Given the description of an element on the screen output the (x, y) to click on. 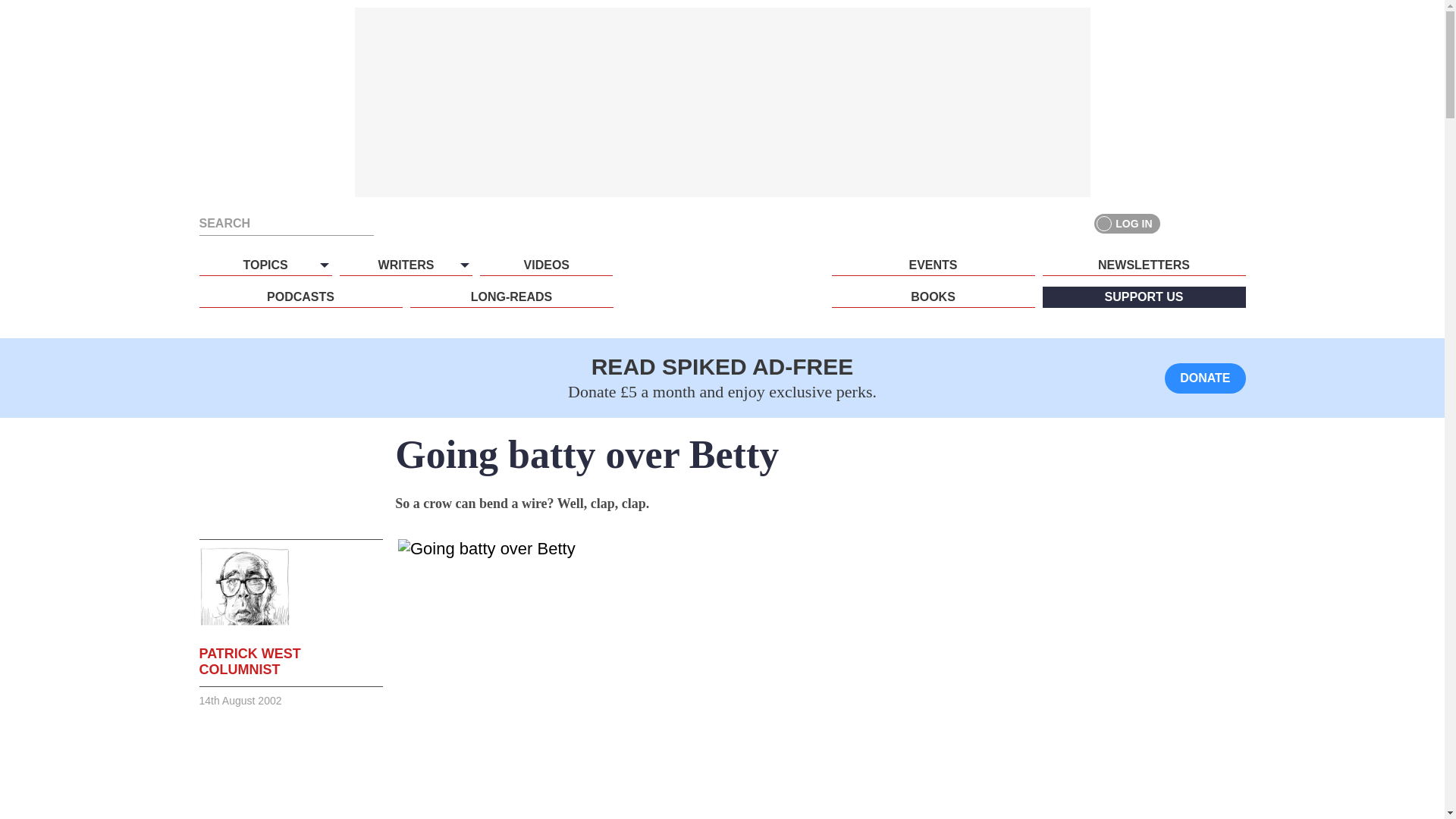
LOG IN (1126, 223)
EVENTS (932, 265)
YouTube (1234, 223)
LONG-READS (510, 296)
VIDEOS (546, 265)
Facebook (1180, 223)
BOOKS (932, 296)
SUPPORT US (1143, 296)
TOPICS (264, 265)
spiked - humanity is underrated (722, 293)
NEWSLETTERS (1143, 265)
PODCASTS (299, 296)
Twitter (1207, 223)
WRITERS (405, 265)
